Given the description of an element on the screen output the (x, y) to click on. 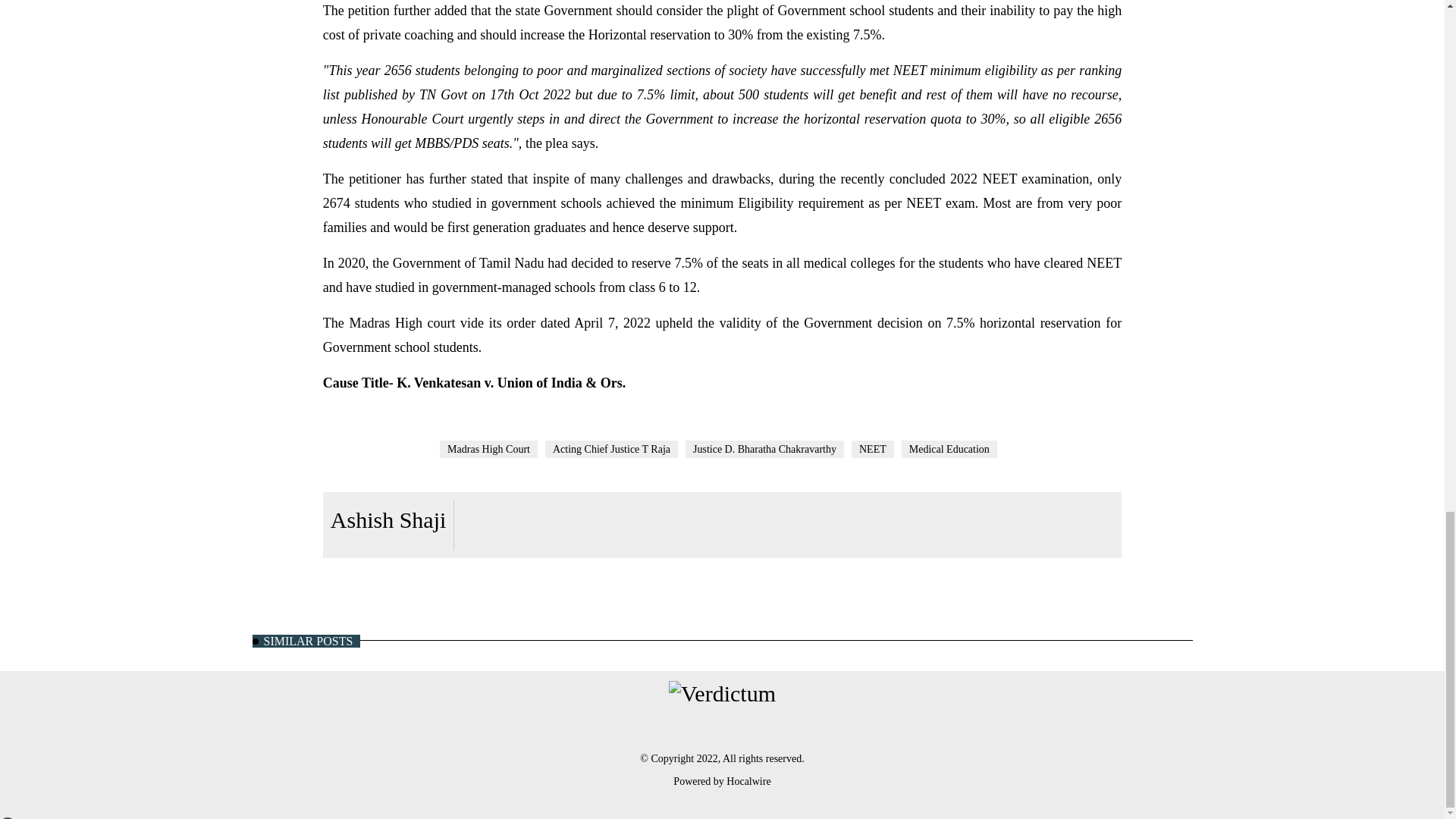
Verdictum (722, 692)
